Given the description of an element on the screen output the (x, y) to click on. 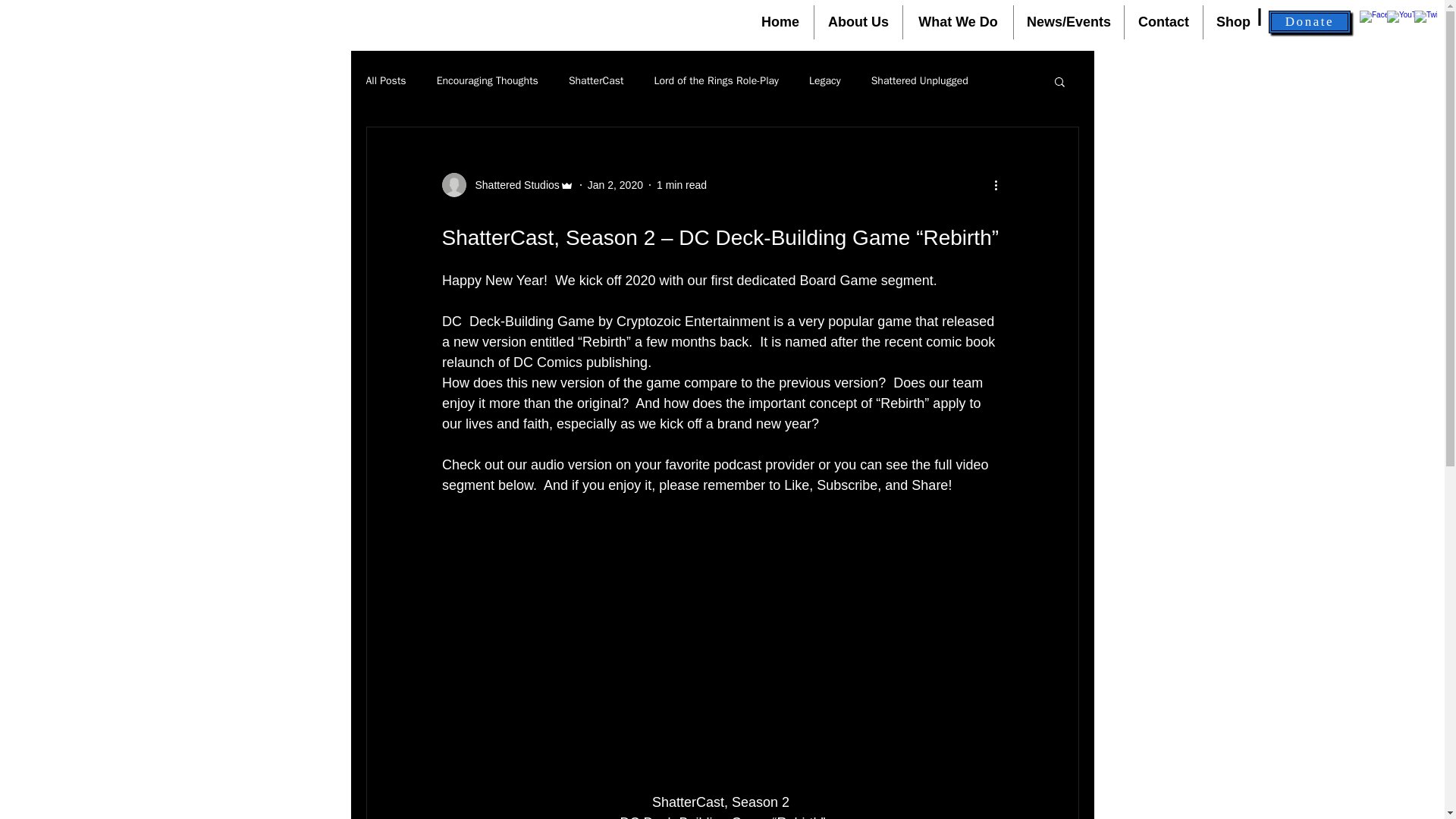
Contact (1163, 21)
Donate (1309, 21)
ShatterCast (596, 80)
Encouraging Thoughts (487, 80)
Home (779, 21)
1 min read (681, 184)
Jan 2, 2020 (615, 184)
Shop (1232, 21)
Shattered Unplugged (919, 80)
Lord of the Rings Role-Play (715, 80)
